Given the description of an element on the screen output the (x, y) to click on. 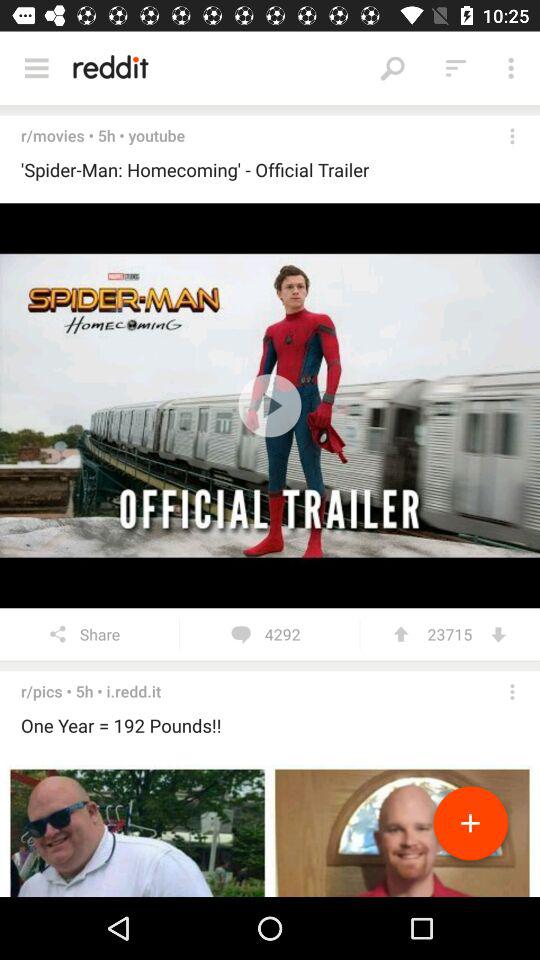
more options (512, 136)
